Given the description of an element on the screen output the (x, y) to click on. 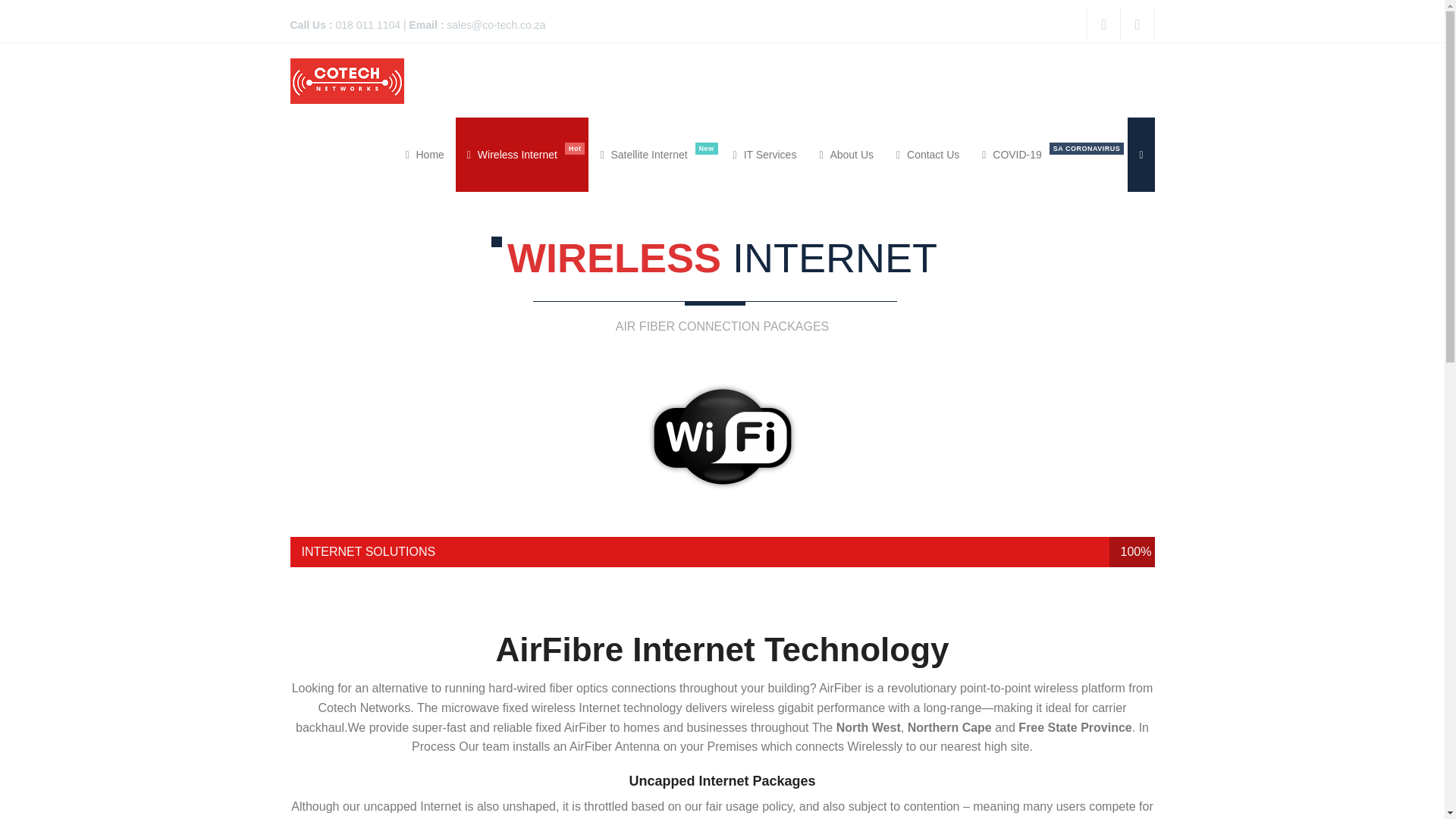
Contact Us (928, 154)
About Us (846, 154)
Satellite InternetNew (654, 154)
Co.Fiber Internet (654, 154)
IT Support Rates (765, 154)
Wireless InternetHot (522, 154)
COVID-19SA CORONAVIRUS (1048, 154)
CoTech Networks (346, 79)
018 011 1104 (367, 24)
IT Services (765, 154)
COVID-19 South African Resource Portal (1048, 154)
Co.AirFibre Internet (522, 154)
